Given the description of an element on the screen output the (x, y) to click on. 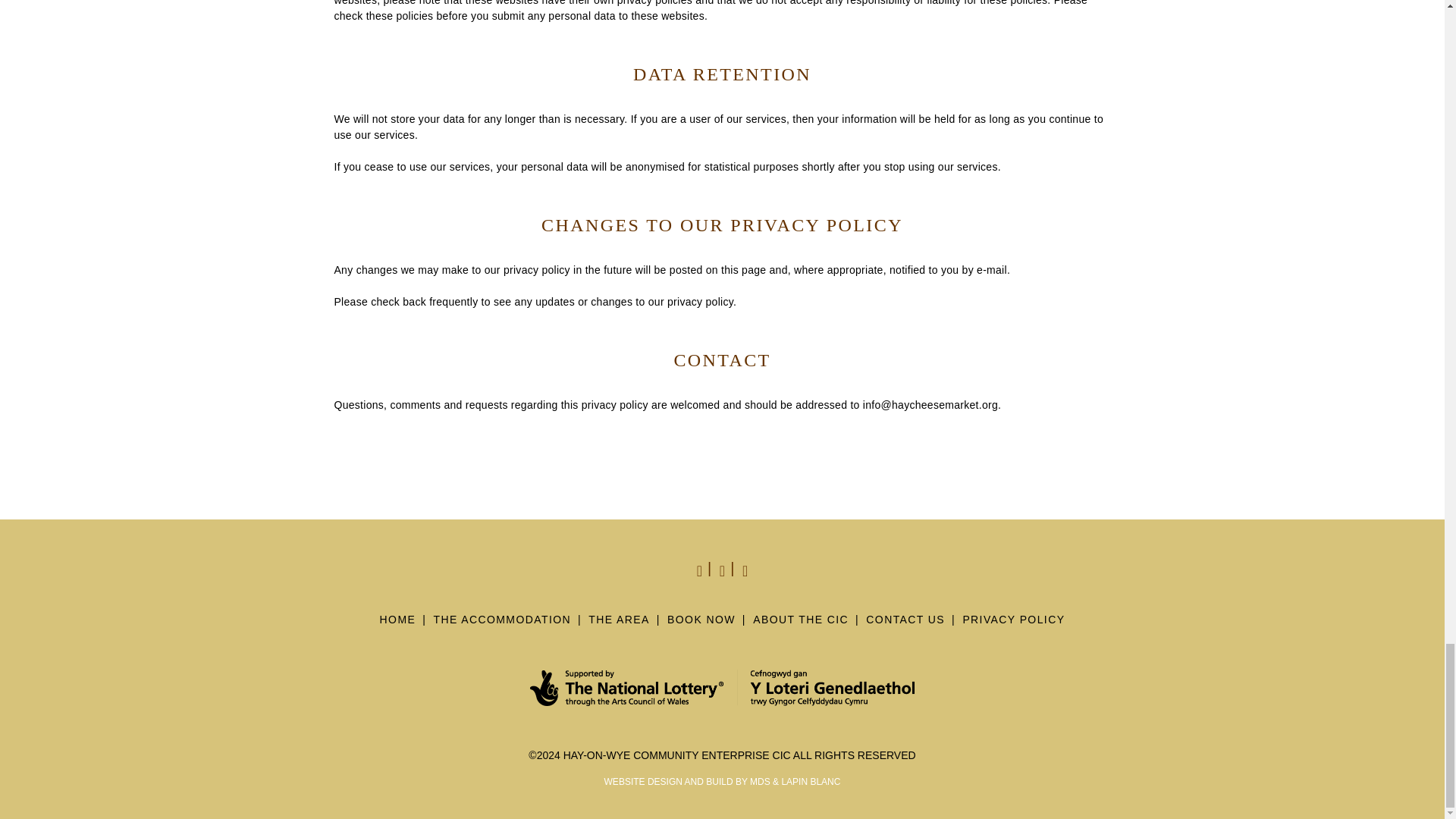
PRIVACY POLICY (1013, 625)
THE ACCOMMODATION (501, 625)
MDS (759, 781)
HOME (398, 625)
BOOK NOW (700, 625)
ABOUT THE CIC (800, 625)
LAPIN BLANC (810, 781)
THE AREA (618, 625)
CONTACT US (905, 625)
